Given the description of an element on the screen output the (x, y) to click on. 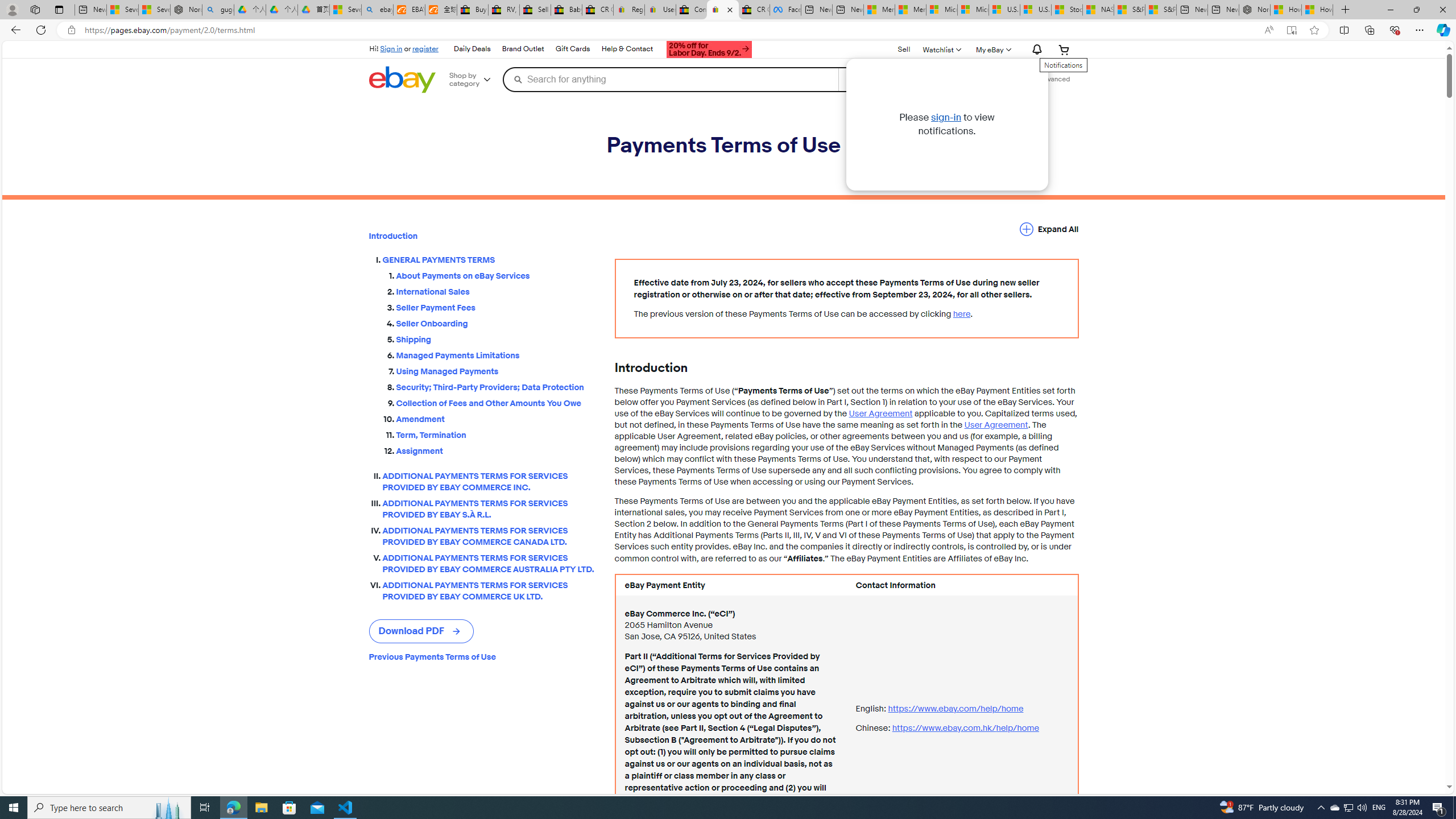
Gift Cards (571, 49)
GENERAL PAYMENTS TERMS (488, 259)
Term, Termination (496, 433)
Previous Payments Terms of Use (482, 657)
